Given the description of an element on the screen output the (x, y) to click on. 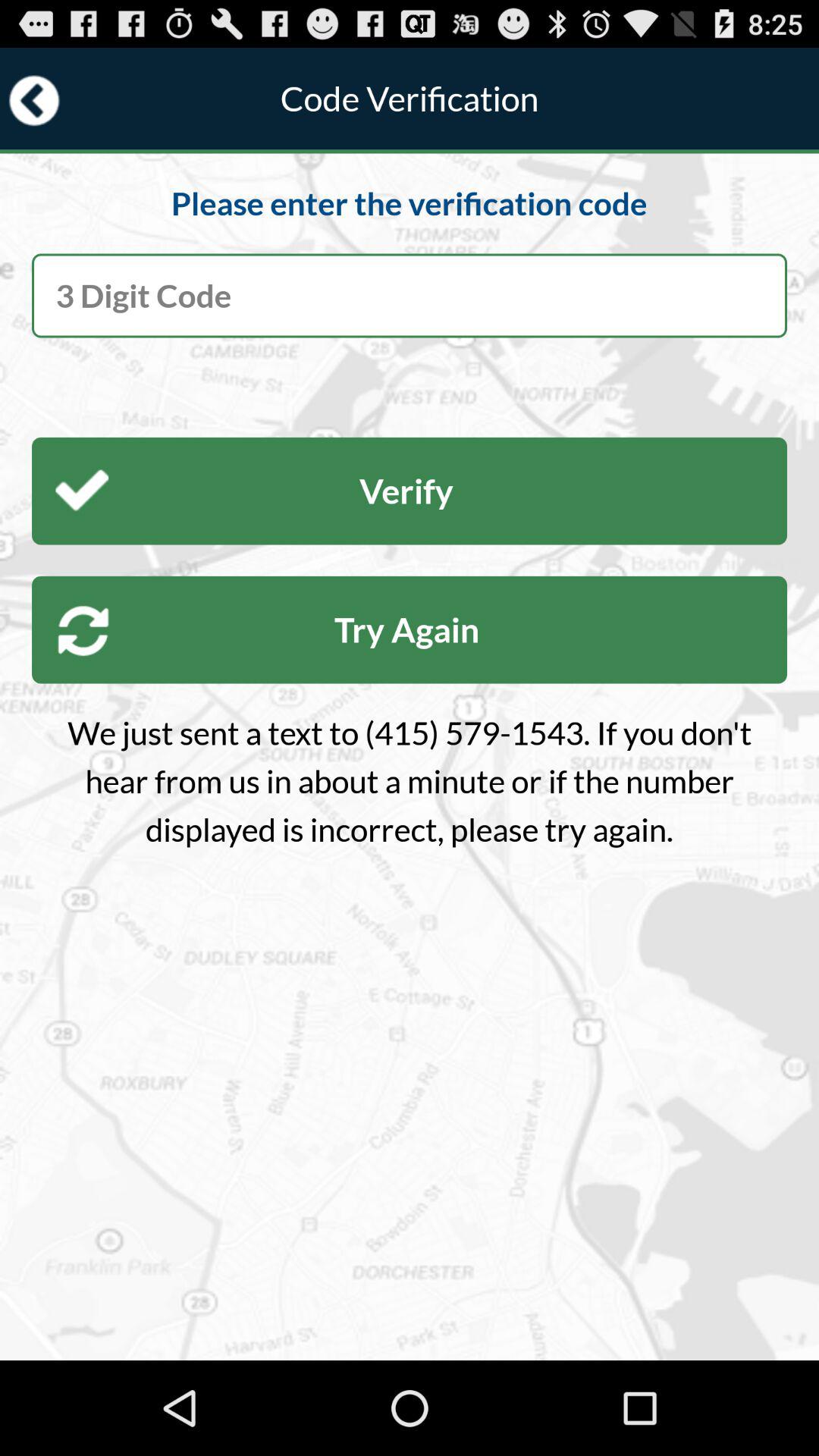
this button enter the pin number (409, 295)
